Given the description of an element on the screen output the (x, y) to click on. 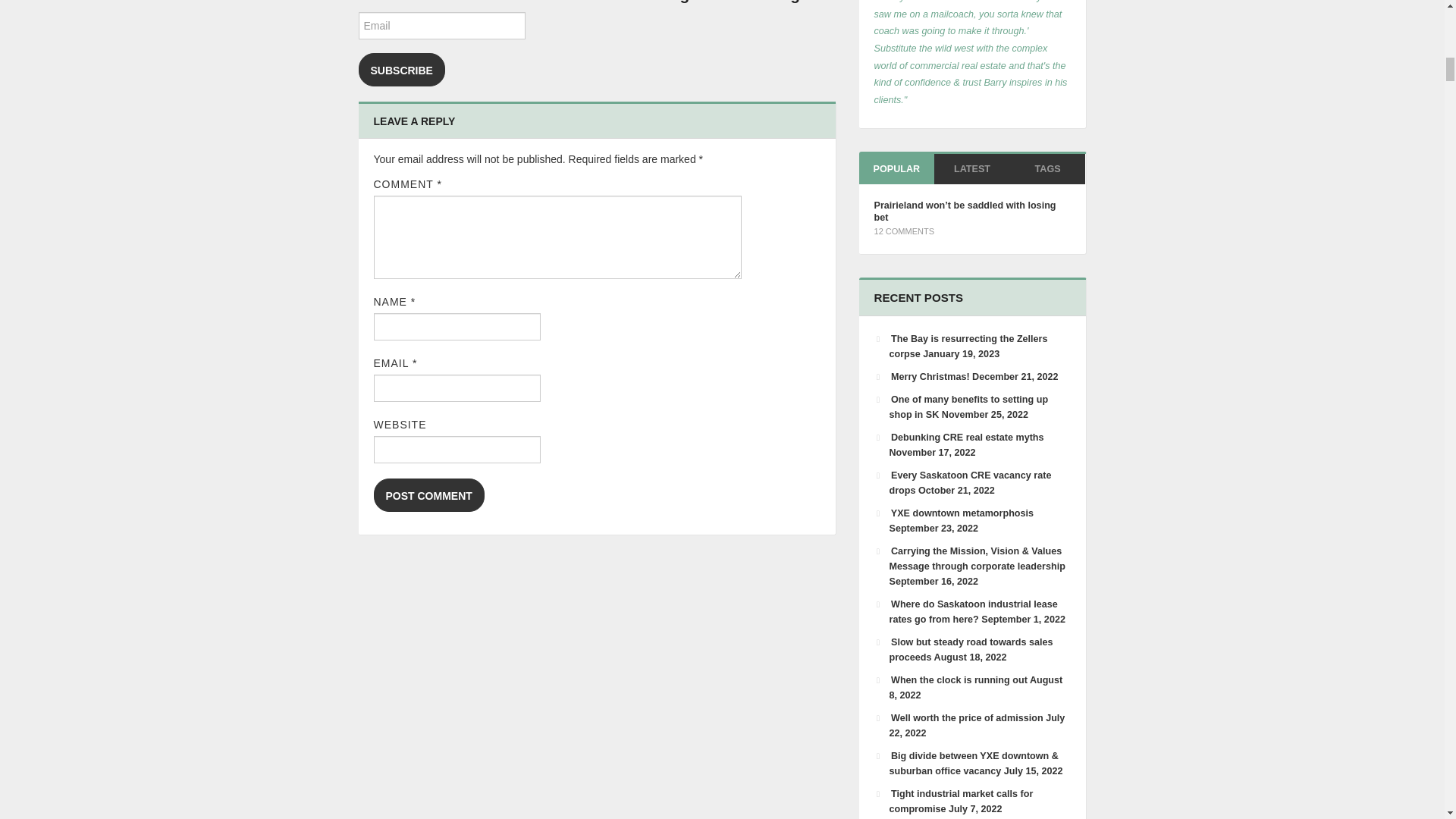
Subscribe (401, 69)
Post Comment (427, 494)
Post Comment (427, 494)
Subscribe (401, 69)
